Given the description of an element on the screen output the (x, y) to click on. 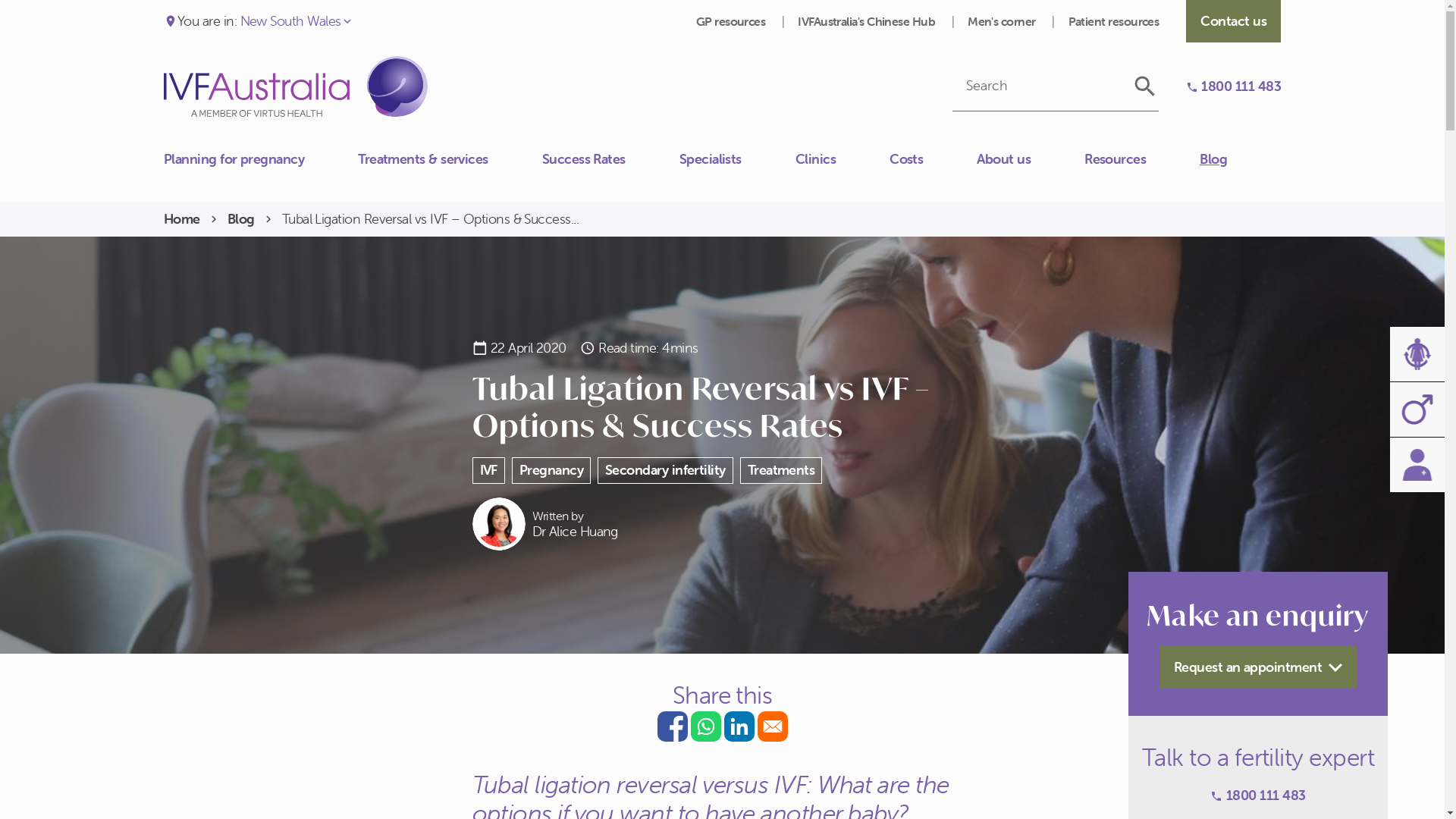
Opens in a new tab Element type: hover (705, 726)
1800 111 483 Element type: text (1257, 795)
Patient resources Element type: text (1113, 20)
About us Element type: text (1030, 159)
Close Element type: text (163, 150)
Treatments Element type: text (781, 470)
Opens in a new tab Element type: hover (771, 726)
GP resources Element type: text (732, 20)
Treatments & services Element type: text (449, 159)
Contact us Element type: text (1233, 21)
Home Element type: text (181, 219)
Contact us Element type: text (163, 166)
Planning for pregnancy Element type: text (260, 159)
Secondary infertility Element type: text (665, 470)
Specialists Element type: text (737, 159)
Blog Element type: text (1239, 159)
Opens in a new tab Element type: hover (671, 726)
Find out more about Dr Alice Huang Element type: text (544, 523)
Skip to main content Element type: text (0, 0)
Costs Element type: text (932, 159)
IVF Element type: text (487, 470)
Blog Element type: text (240, 219)
1800 111 483 Element type: text (1233, 85)
Success Rates Element type: text (610, 159)
Request an appointment Element type: text (1257, 667)
Clinics Element type: text (842, 159)
Pregnancy Element type: text (550, 470)
IVFAustralia's Chinese Hub Element type: text (867, 20)
Resources Element type: text (1141, 159)
Men's corner Element type: text (1002, 20)
Opens in a new tab Element type: hover (738, 726)
